Given the description of an element on the screen output the (x, y) to click on. 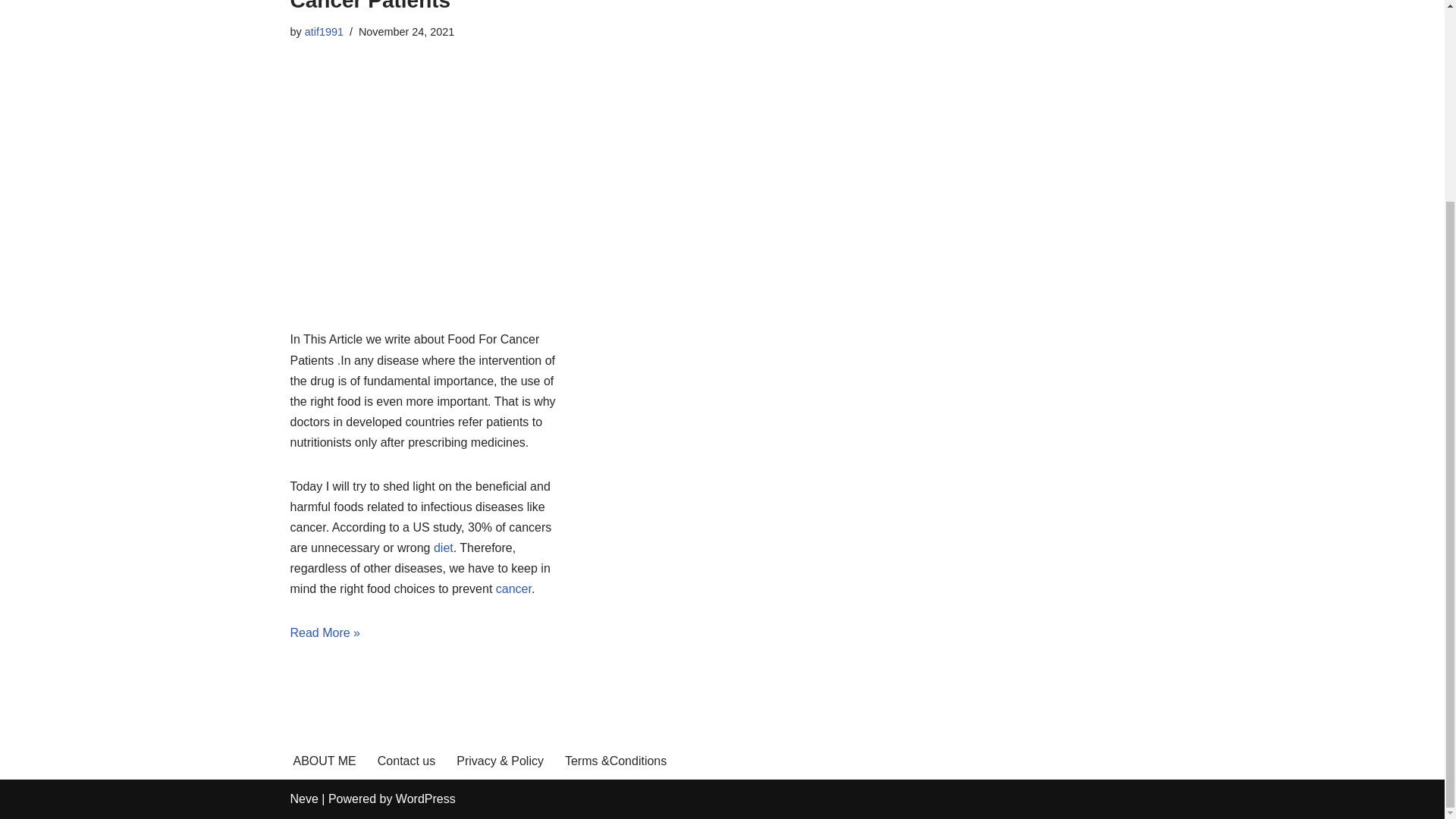
cancer (513, 588)
Neve (303, 798)
ABOUT ME (323, 761)
Posts by atif1991 (323, 31)
Contact us (406, 761)
What The Best Food For Cancer Patients (412, 6)
WordPress (425, 798)
atif1991 (323, 31)
diet (442, 547)
